Given the description of an element on the screen output the (x, y) to click on. 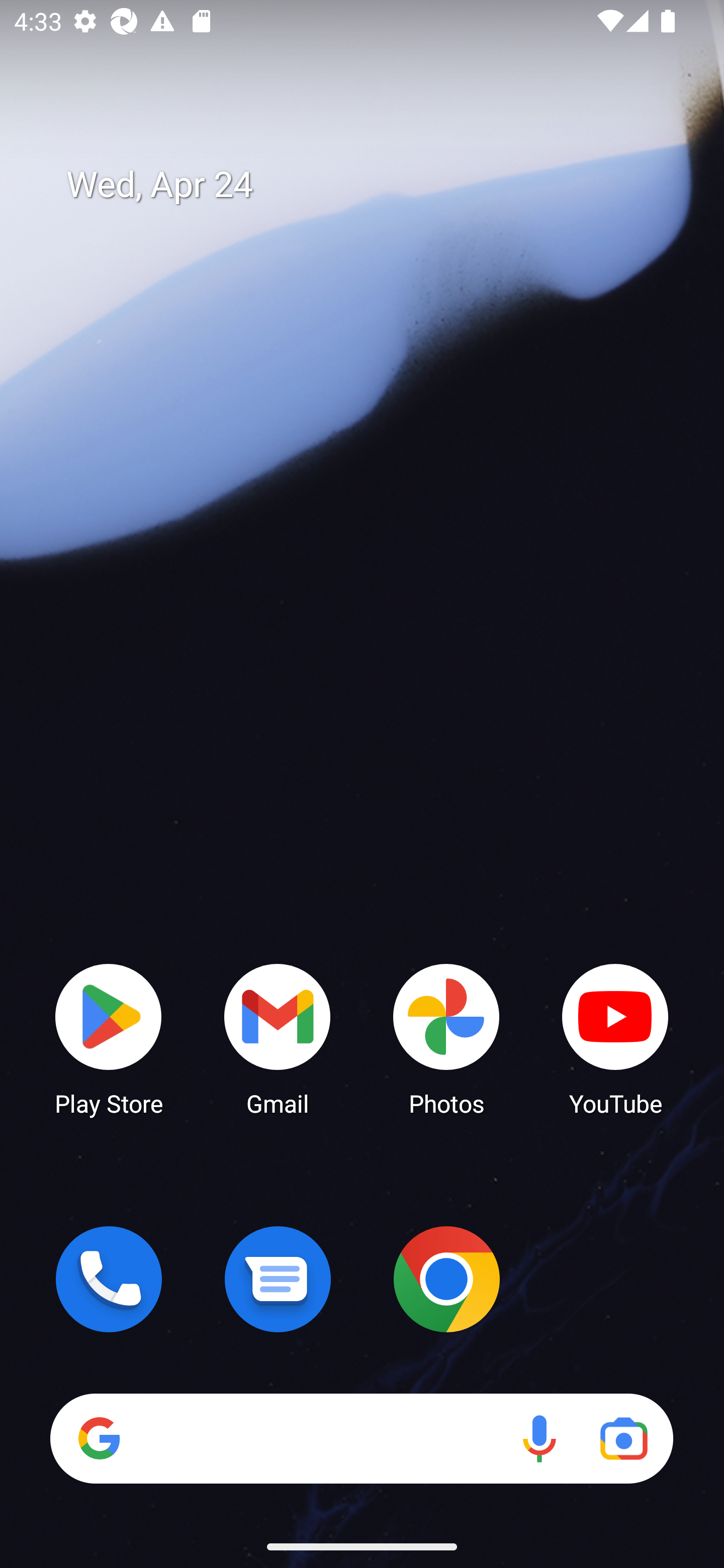
Wed, Apr 24 (375, 184)
Play Store (108, 1038)
Gmail (277, 1038)
Photos (445, 1038)
YouTube (615, 1038)
Phone (108, 1279)
Messages (277, 1279)
Chrome (446, 1279)
Search Voice search Google Lens (361, 1438)
Voice search (539, 1438)
Google Lens (623, 1438)
